Given the description of an element on the screen output the (x, y) to click on. 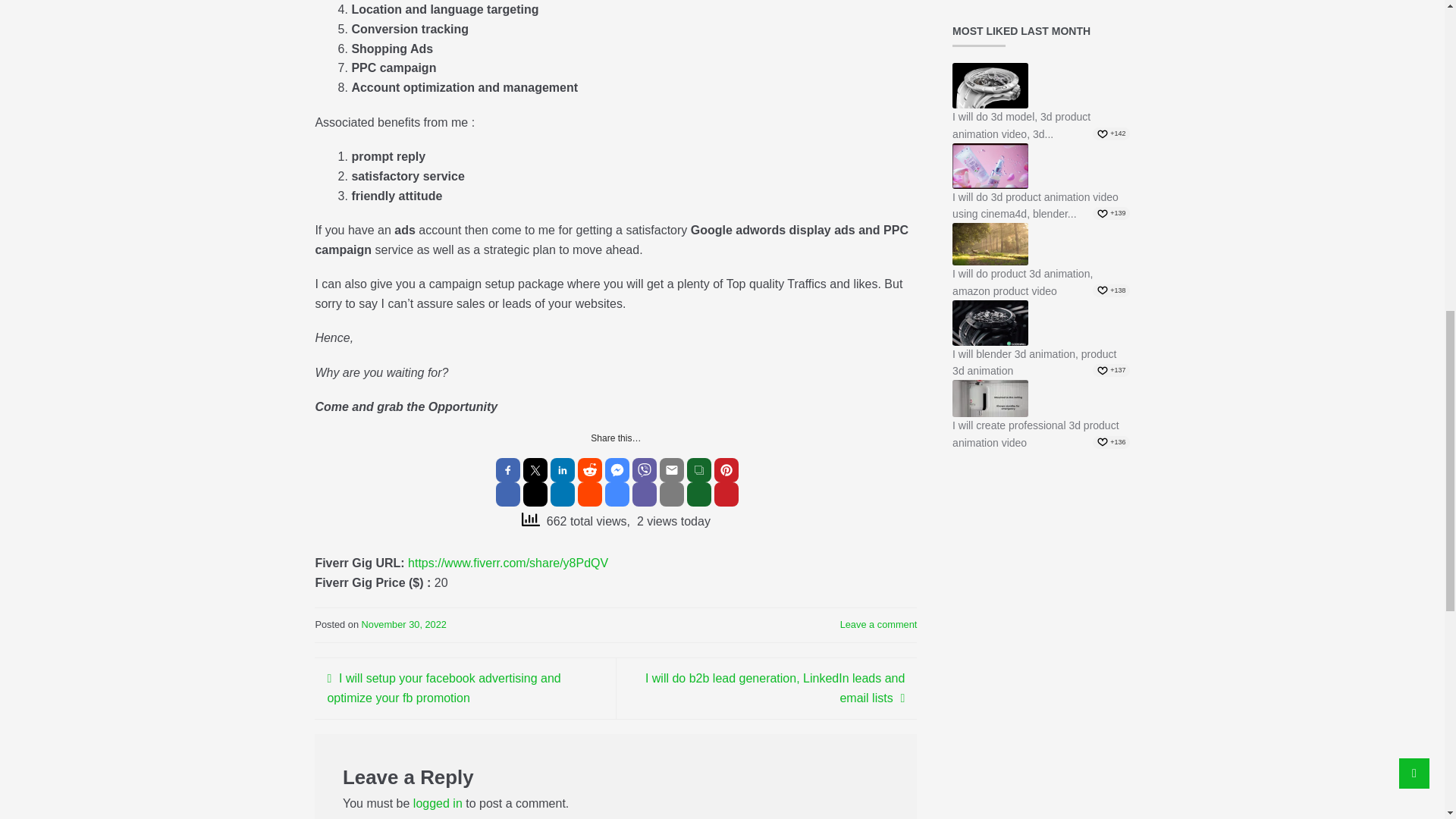
Advertisement (1040, 649)
